Given the description of an element on the screen output the (x, y) to click on. 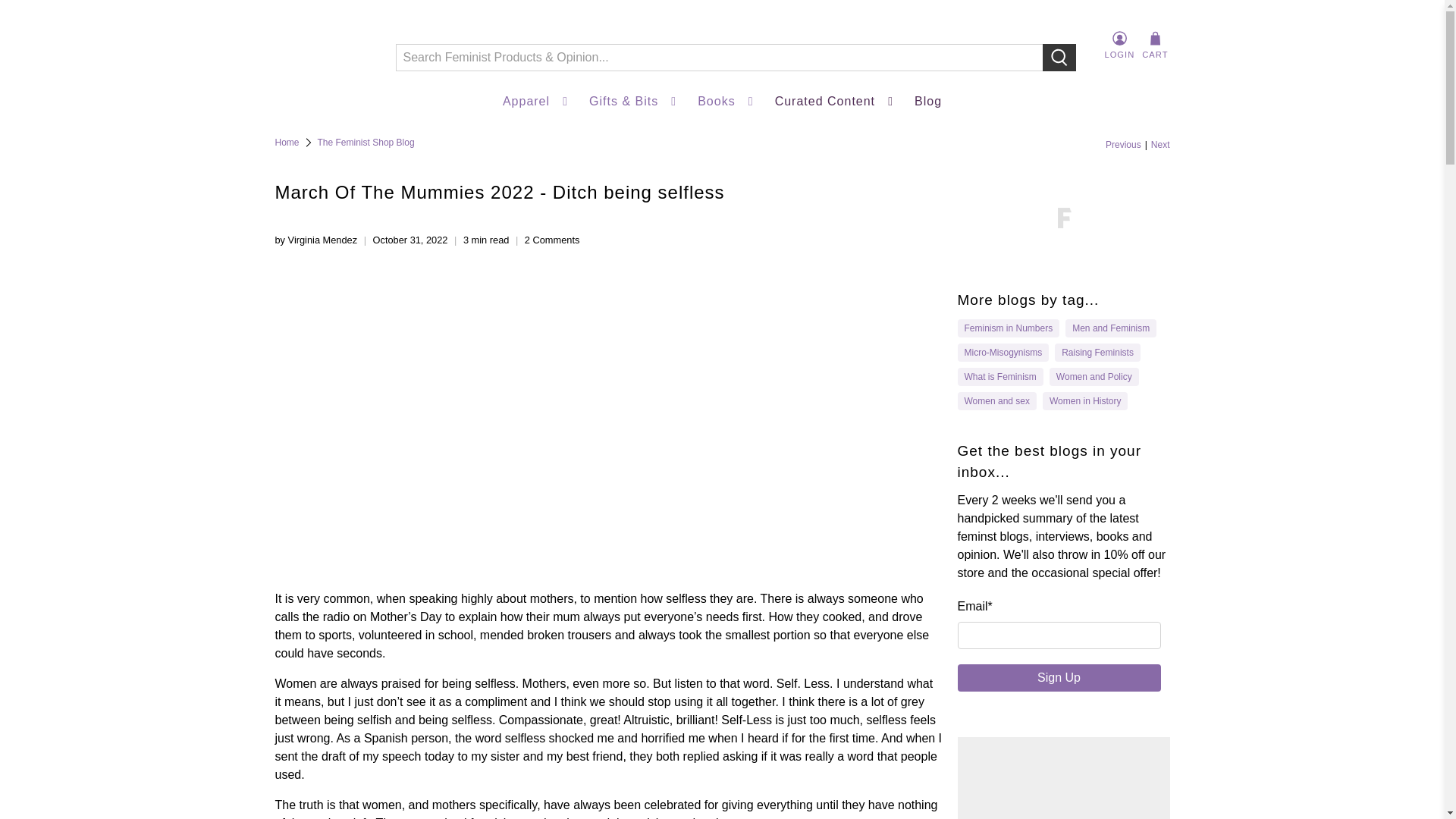
The Feminist Shop Blog tagged Women and Policy (1094, 377)
The Feminist Shop Blog tagged Micro-Misogynisms (1002, 352)
The Feminist Shop (286, 142)
The Feminist Shop (323, 46)
Blog (927, 101)
Next (1160, 144)
Books (726, 101)
The Feminist Shop Blog tagged Raising Feminists (1097, 352)
The Feminist Shop Blog tagged What is Feminism (999, 377)
The Feminist Shop Blog tagged Women and sex (996, 400)
